Given the description of an element on the screen output the (x, y) to click on. 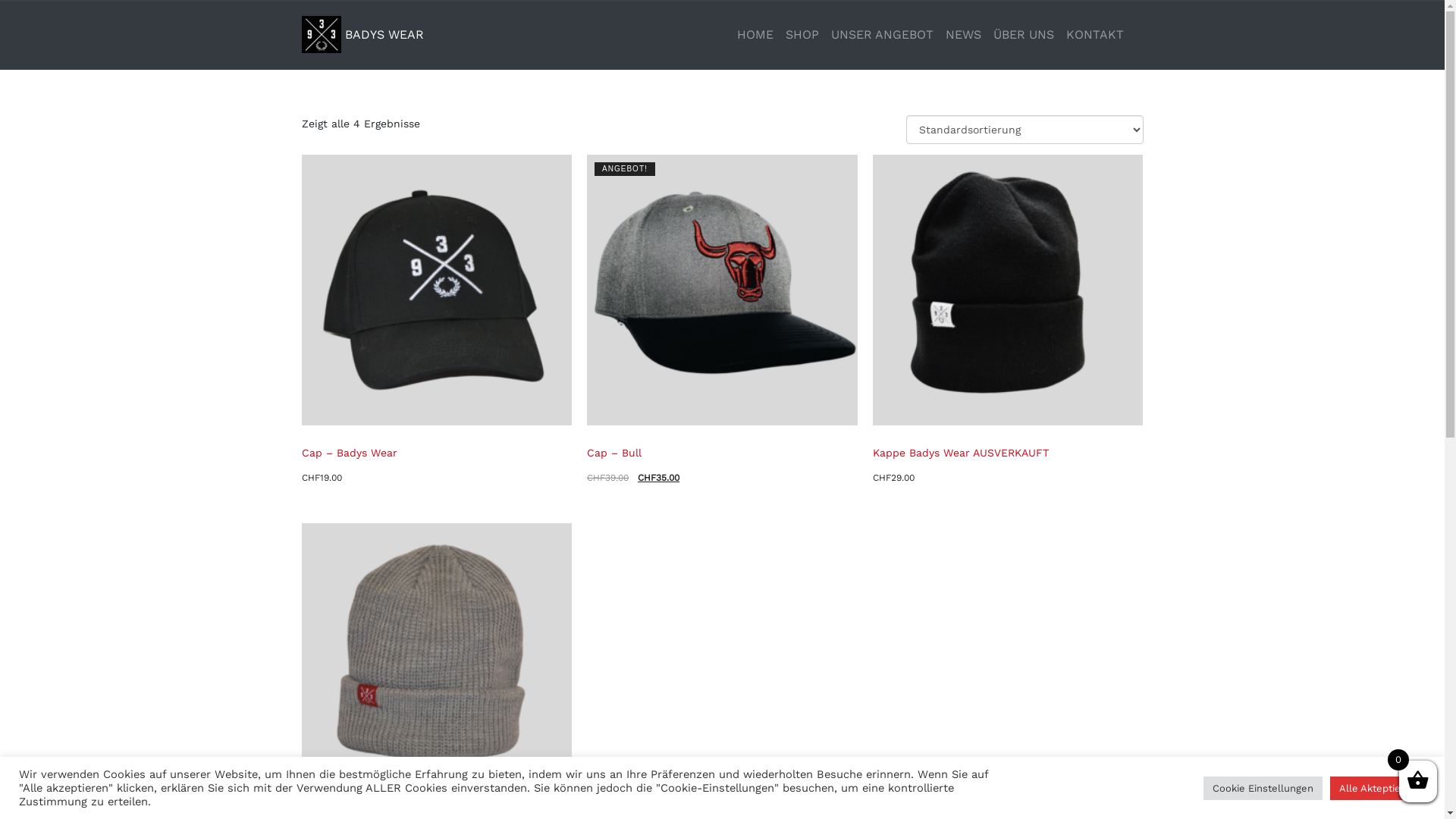
Alle Akteptieren Element type: text (1377, 788)
Cookie Einstellungen Element type: text (1262, 788)
KONTAKT Element type: text (1094, 34)
SHOP Element type: text (802, 34)
BADYS WEAR Element type: text (362, 34)
UNSER ANGEBOT Element type: text (882, 34)
NEWS Element type: text (963, 34)
Kappe Badys Wear AUSVERKAUFT
CHF29.00 Element type: text (1007, 320)
HOME Element type: text (755, 34)
